Given the description of an element on the screen output the (x, y) to click on. 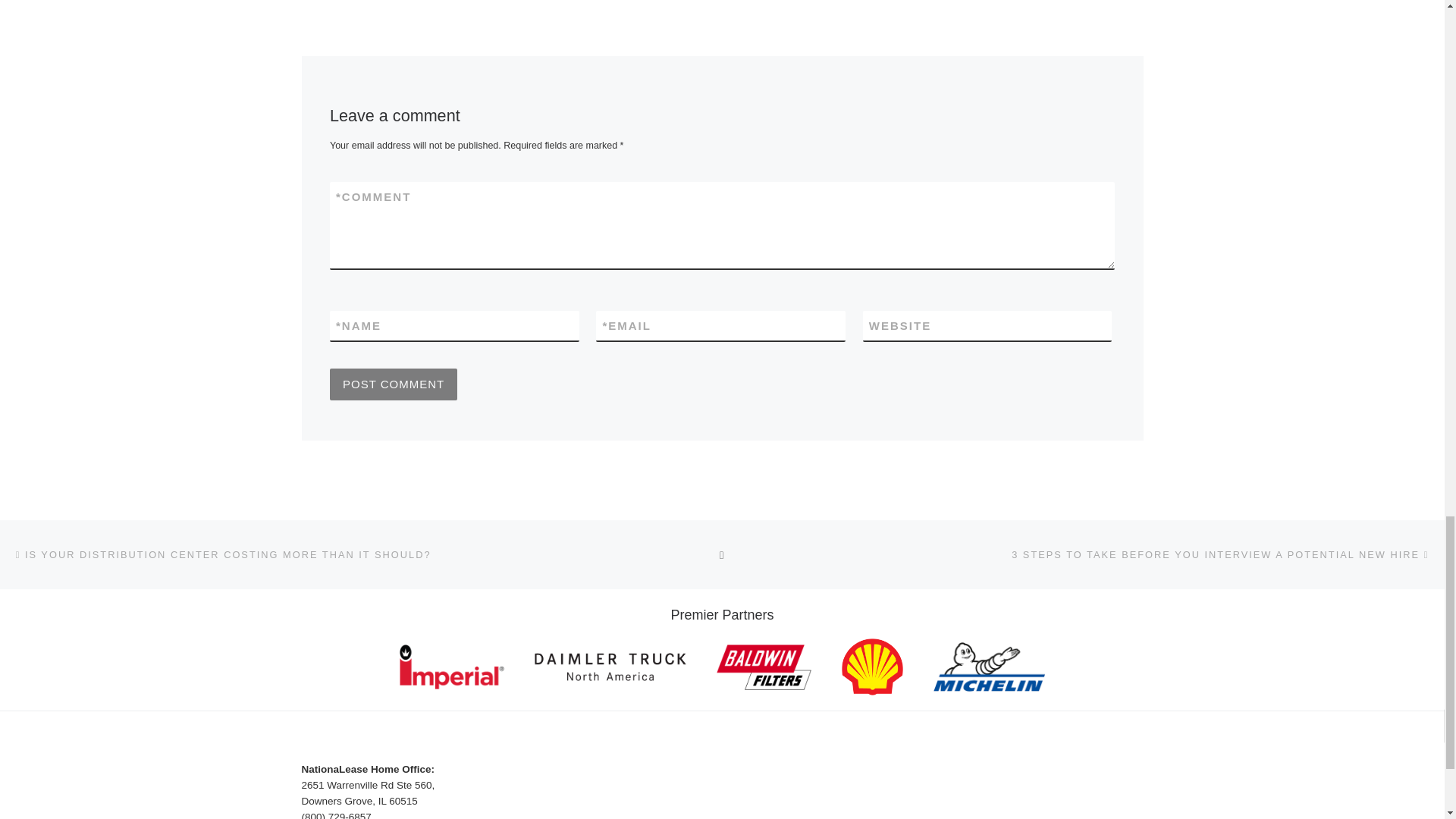
Post Comment (393, 384)
